Given the description of an element on the screen output the (x, y) to click on. 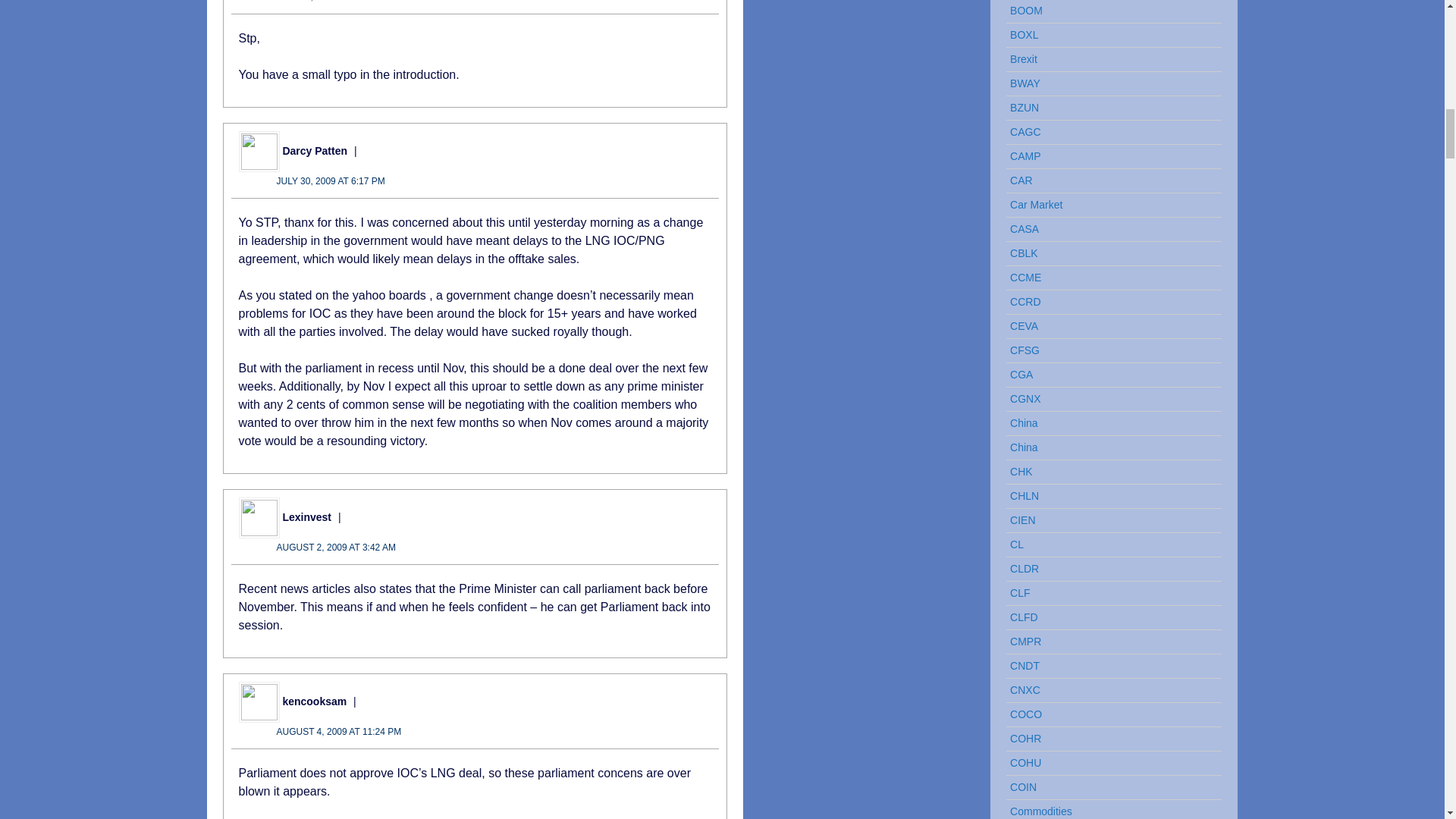
AUGUST 4, 2009 AT 11:24 PM (338, 731)
JULY 30, 2009 AT 6:17 PM (330, 181)
AUGUST 2, 2009 AT 3:42 AM (335, 547)
JULY 29, 2009 AT 10:53 PM (333, 1)
